Given the description of an element on the screen output the (x, y) to click on. 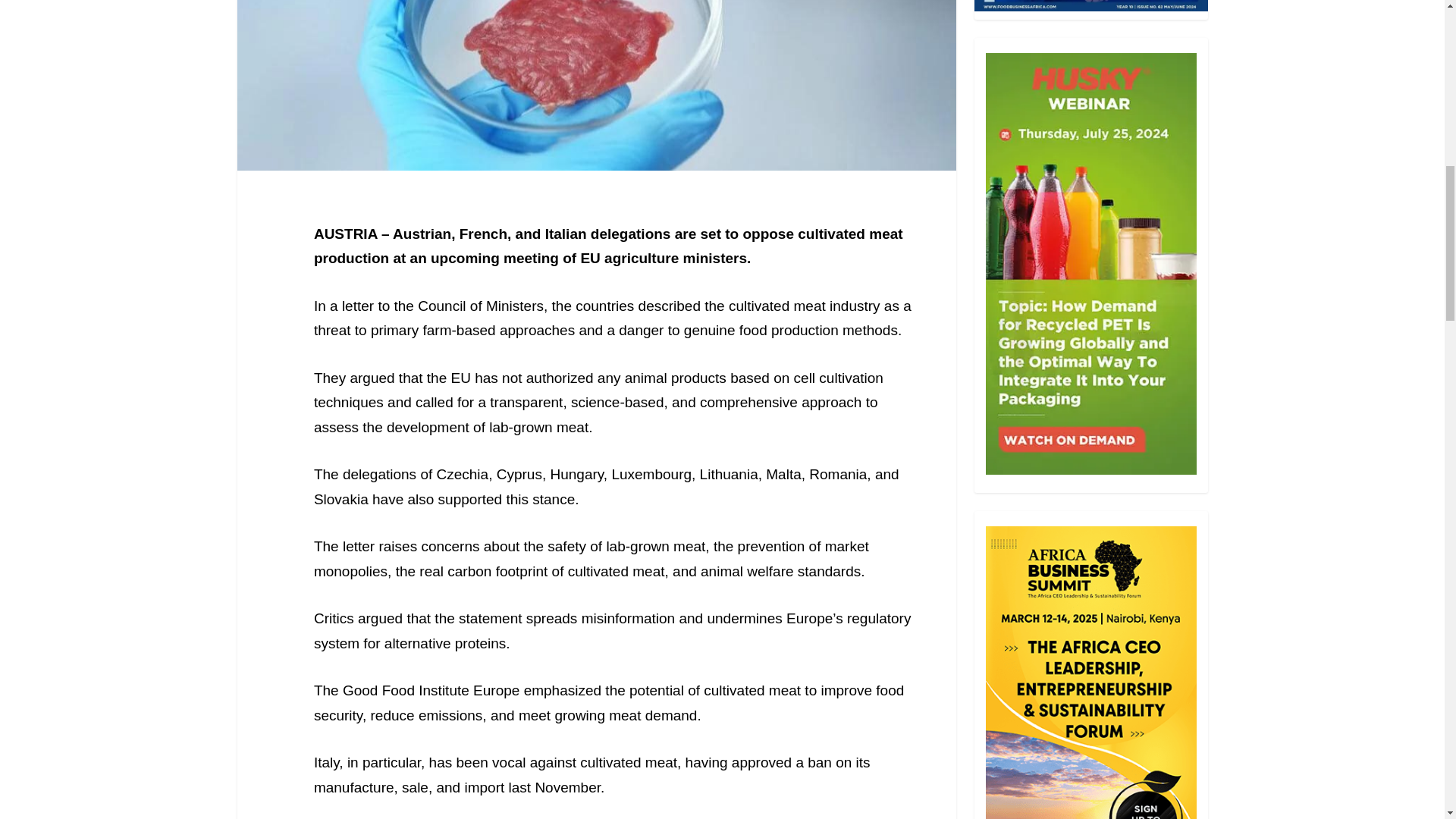
LATEST DIGITAL MAGAZINE (1090, 5)
